Given the description of an element on the screen output the (x, y) to click on. 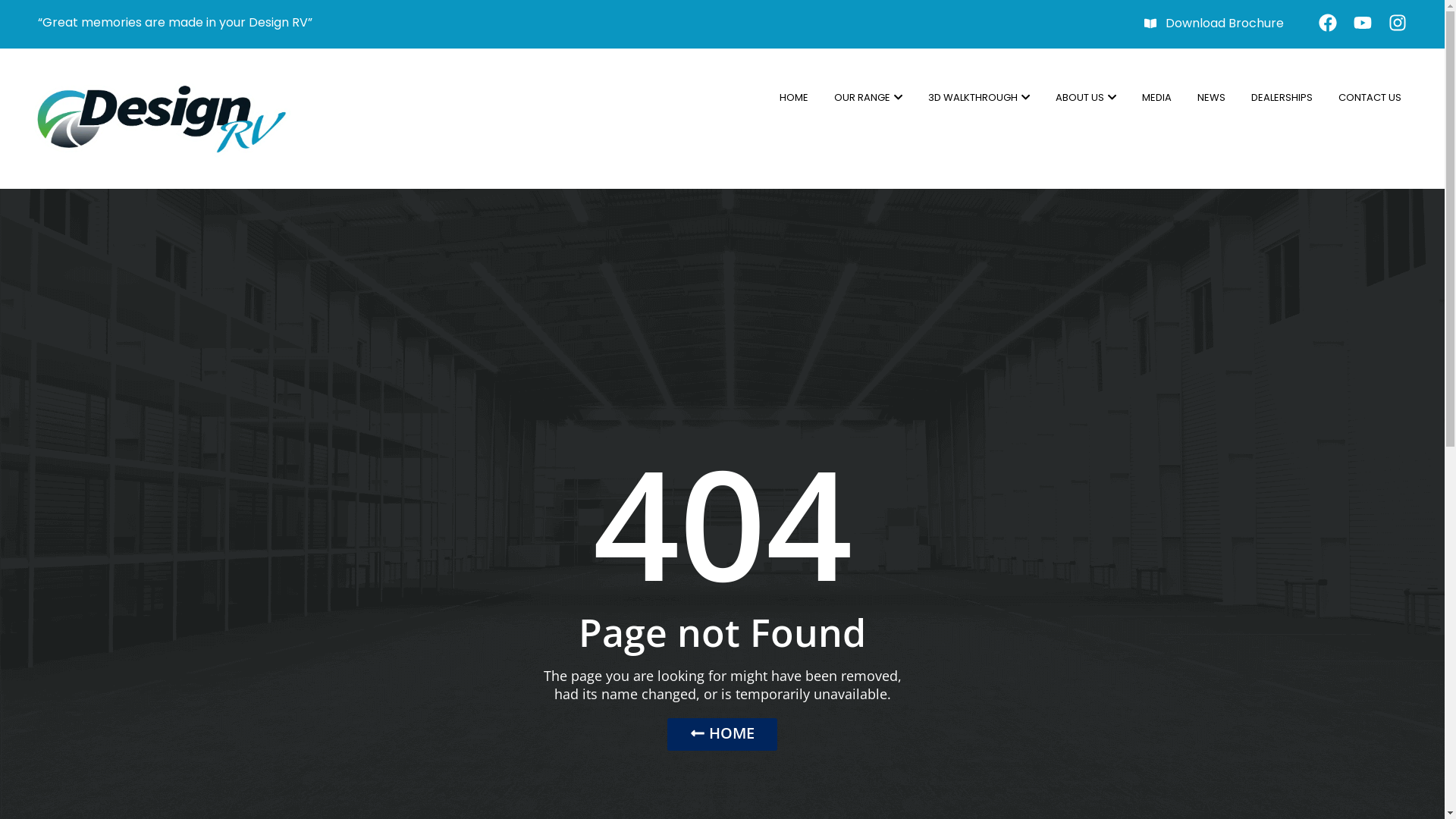
OUR RANGE Element type: text (868, 97)
3D WALKTHROUGH Element type: text (978, 97)
HOME Element type: text (722, 734)
CONTACT US Element type: text (1369, 97)
HOME Element type: text (793, 97)
Download Brochure Element type: text (1213, 24)
ABOUT US Element type: text (1085, 97)
MEDIA Element type: text (1156, 97)
NEWS Element type: text (1211, 97)
DEALERSHIPS Element type: text (1281, 97)
